Given the description of an element on the screen output the (x, y) to click on. 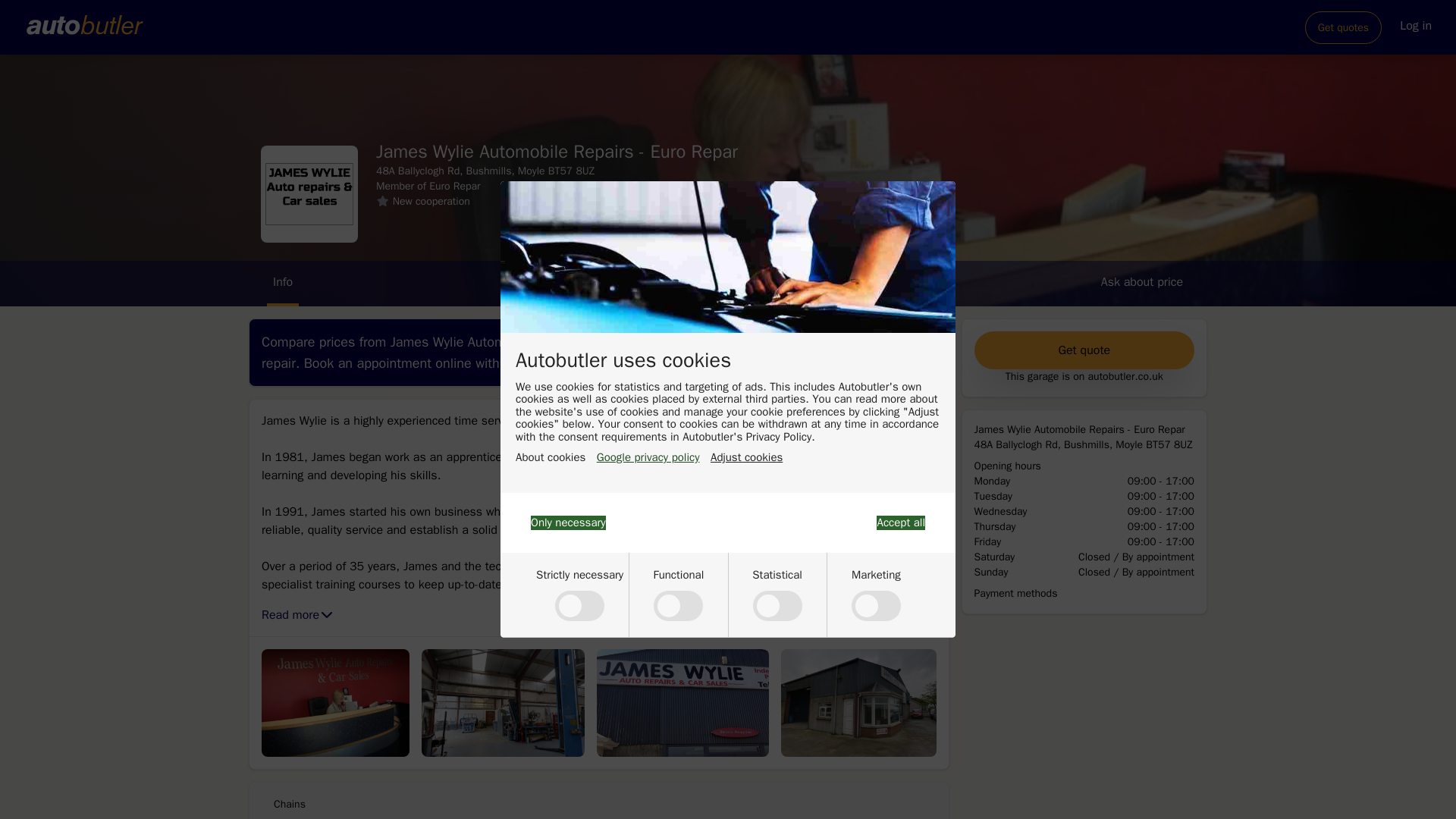
Accept all (900, 522)
About cookies (550, 457)
Adjust cookies (746, 457)
Google privacy policy (648, 457)
Only necessary (568, 522)
